Given the description of an element on the screen output the (x, y) to click on. 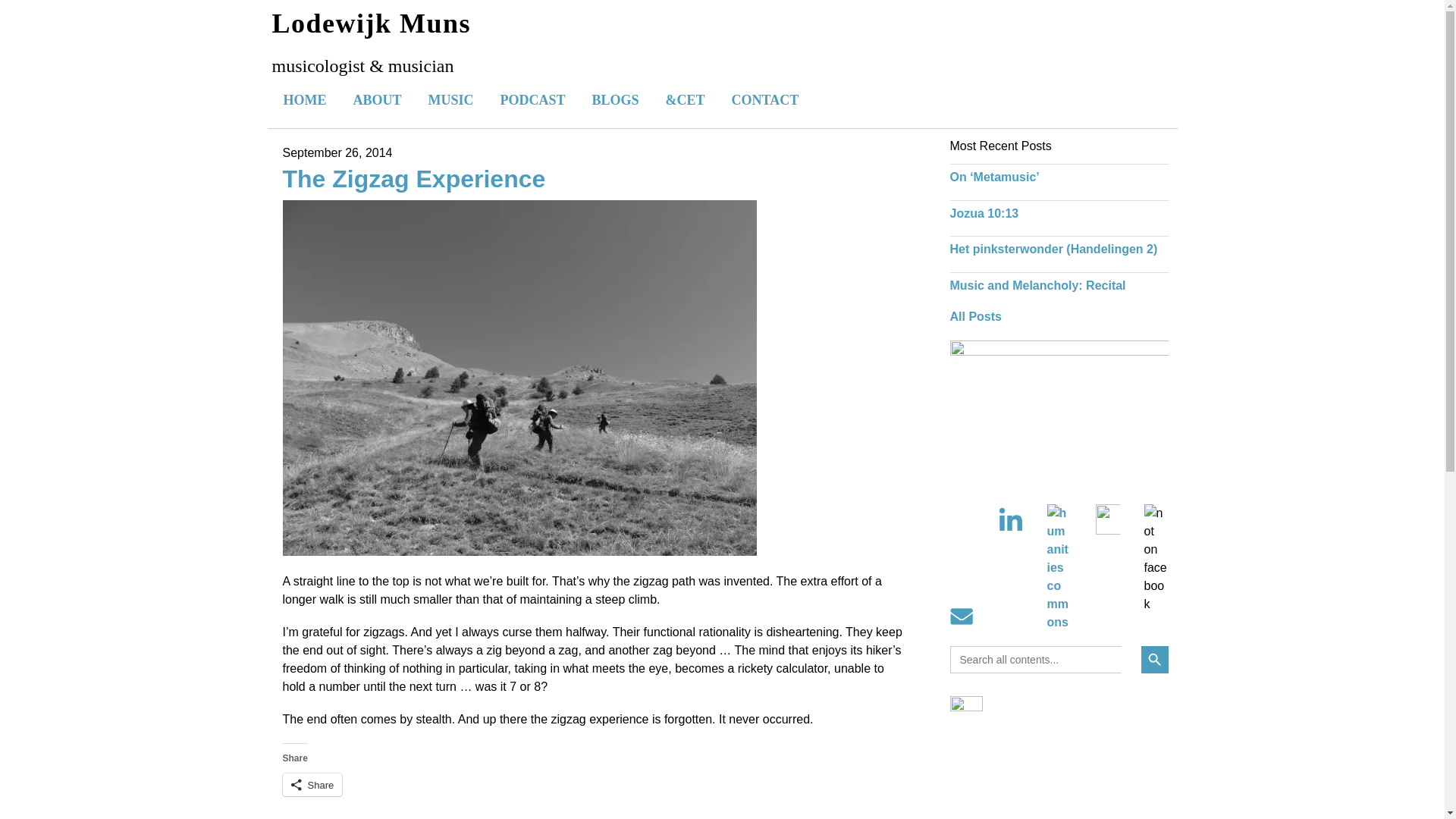
The Zigzag Experience (413, 178)
Jozua 10:13 (983, 213)
HOME (303, 99)
Lodewijk Muns (370, 23)
MUSIC (450, 99)
PODCAST (532, 99)
Music and Melancholy: Recital (1037, 285)
All Posts (975, 316)
CONTACT (765, 99)
Lodewijk Muns (370, 23)
BLOGS (615, 99)
Share (312, 784)
ABOUT (376, 99)
